Given the description of an element on the screen output the (x, y) to click on. 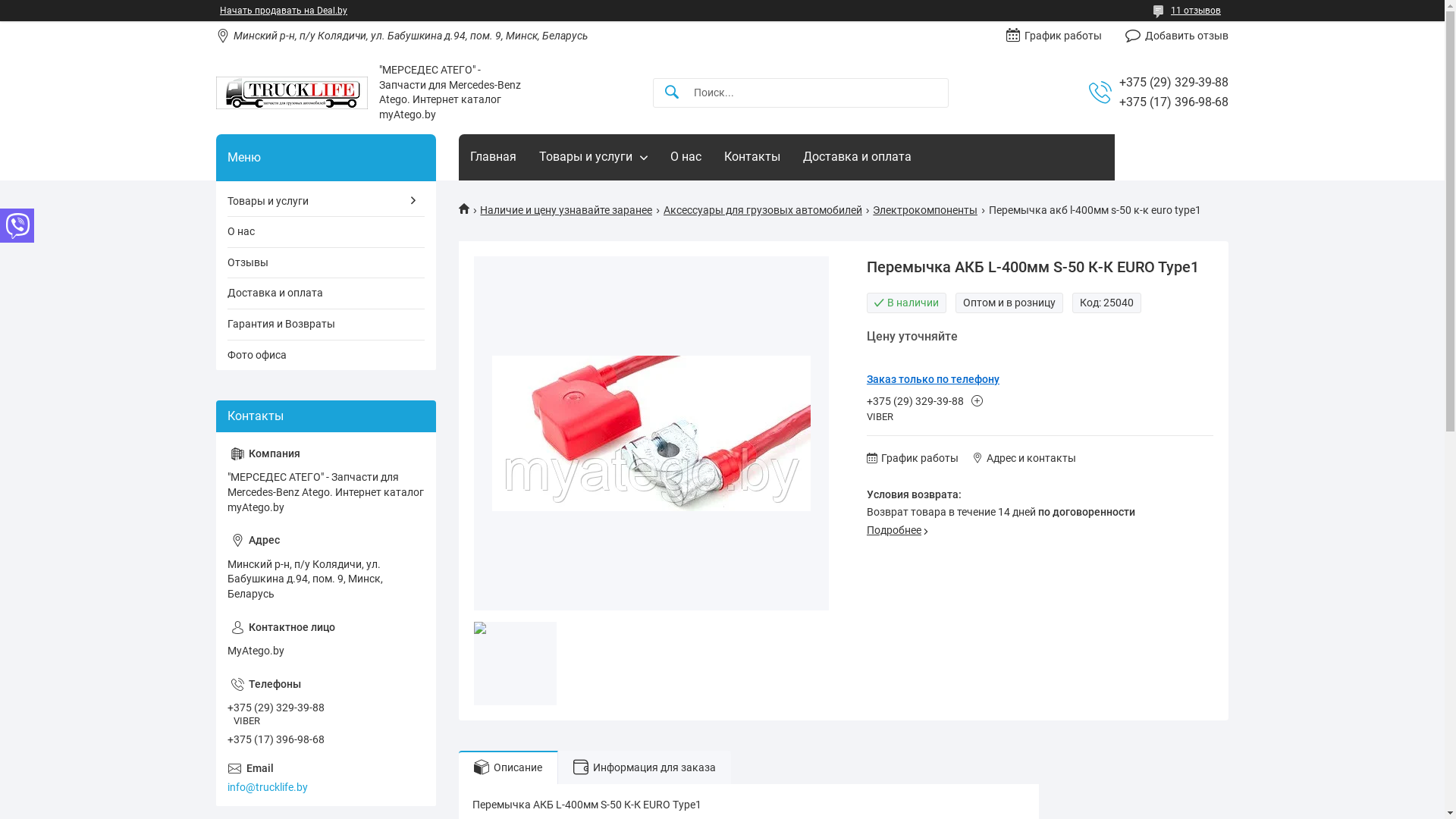
info@trucklife.by Element type: text (325, 777)
